Given the description of an element on the screen output the (x, y) to click on. 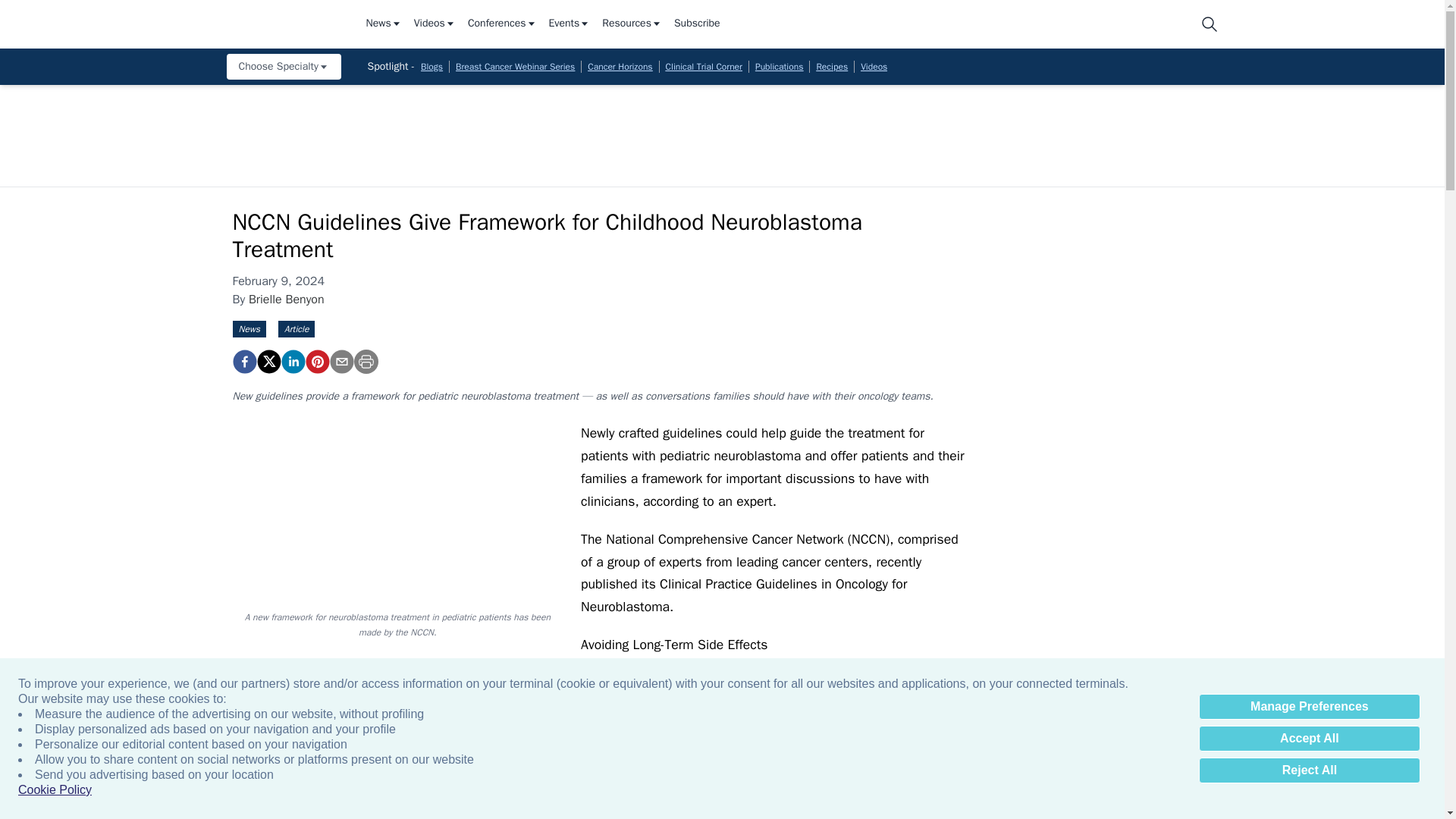
Conferences (502, 23)
Events (569, 23)
News (383, 23)
Resources (632, 23)
Videos (434, 23)
Cookie Policy (54, 789)
Accept All (1309, 738)
Reject All (1309, 769)
Manage Preferences (1309, 706)
